Given the description of an element on the screen output the (x, y) to click on. 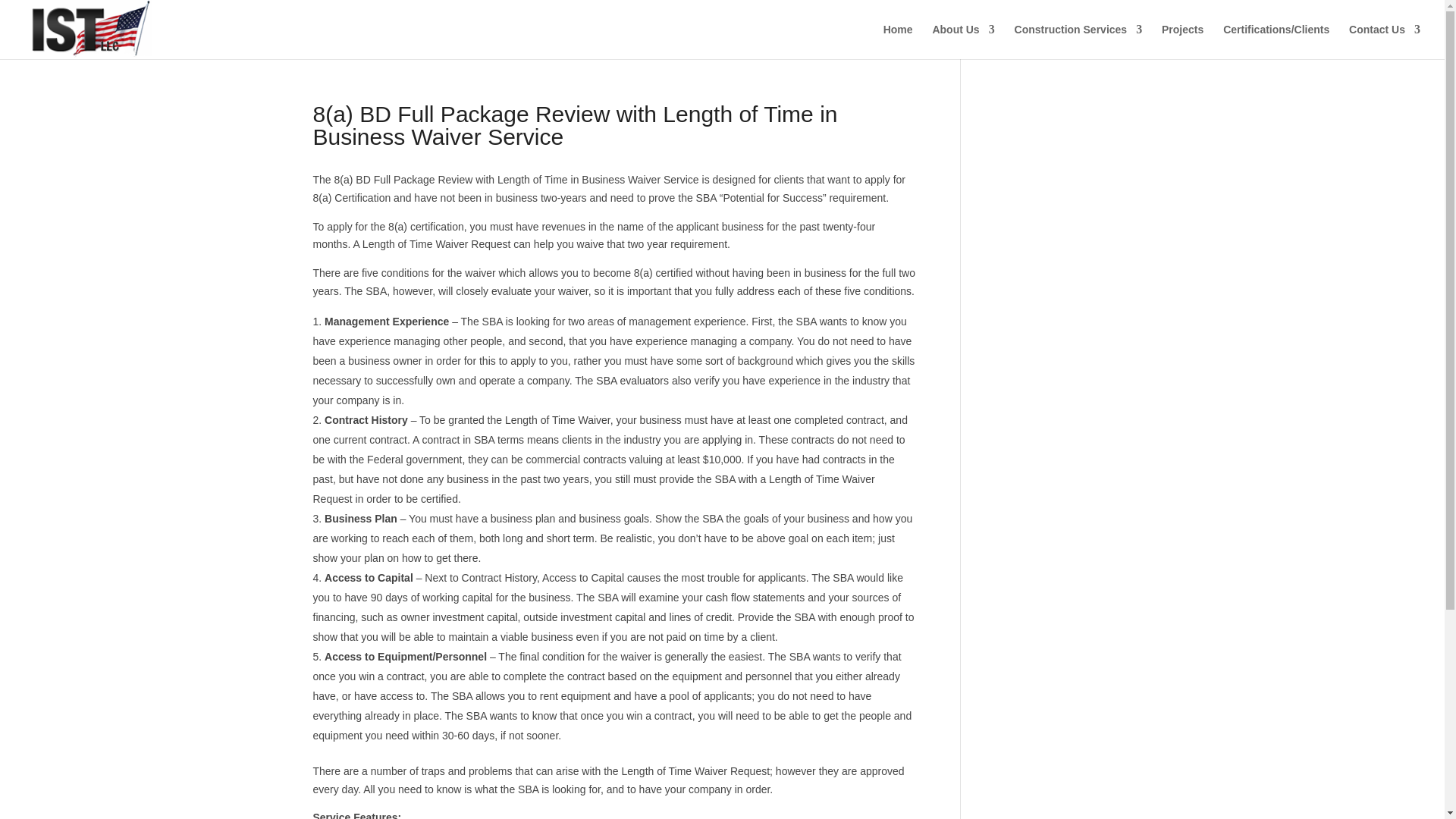
Projects (1182, 41)
Construction Services (1078, 41)
About Us (962, 41)
Contact Us (1385, 41)
